Given the description of an element on the screen output the (x, y) to click on. 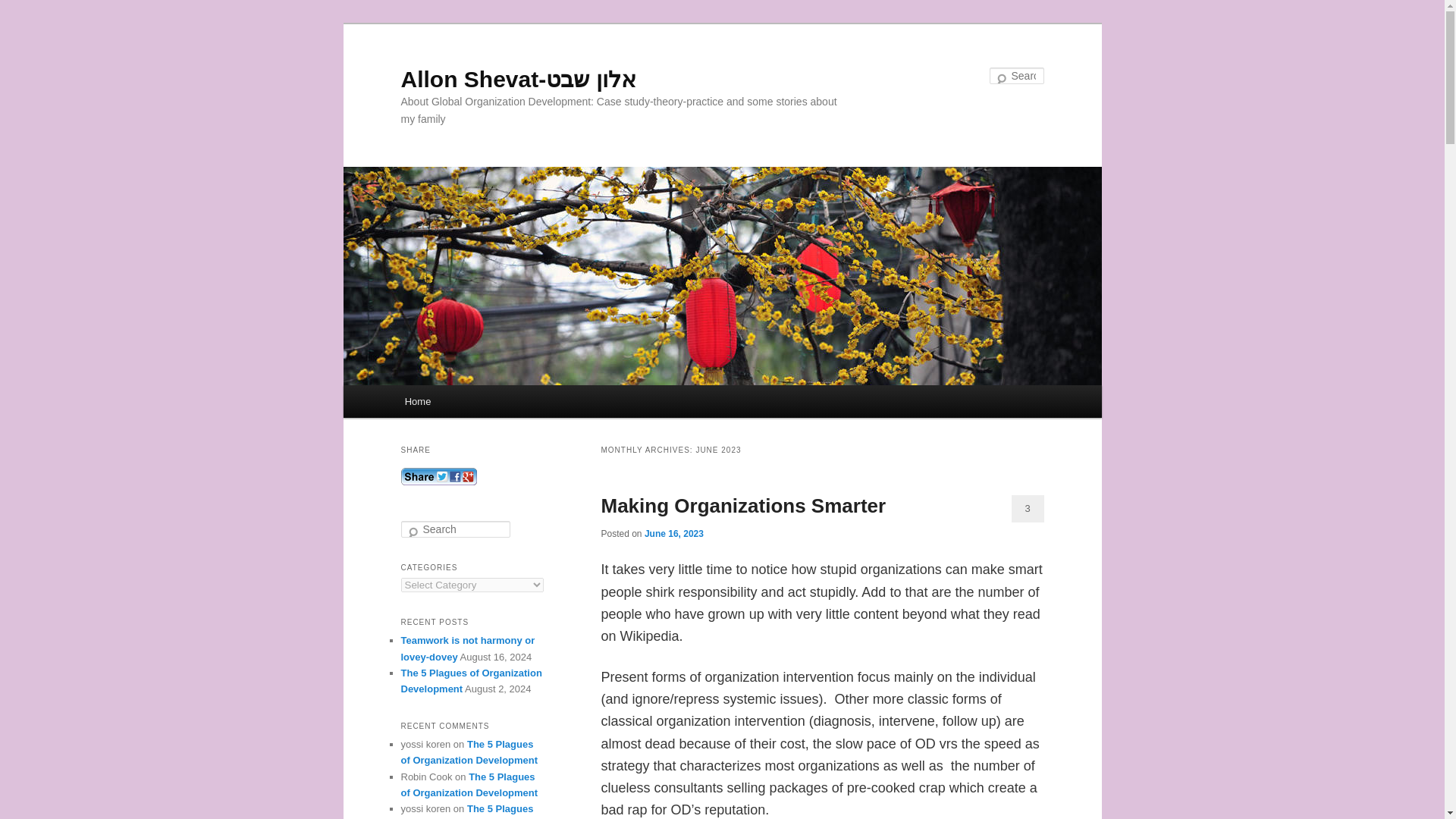
Home (417, 400)
June 16, 2023 (674, 533)
Search (24, 8)
Making Organizations Smarter (742, 505)
3 (1027, 508)
08:30 (674, 533)
